Given the description of an element on the screen output the (x, y) to click on. 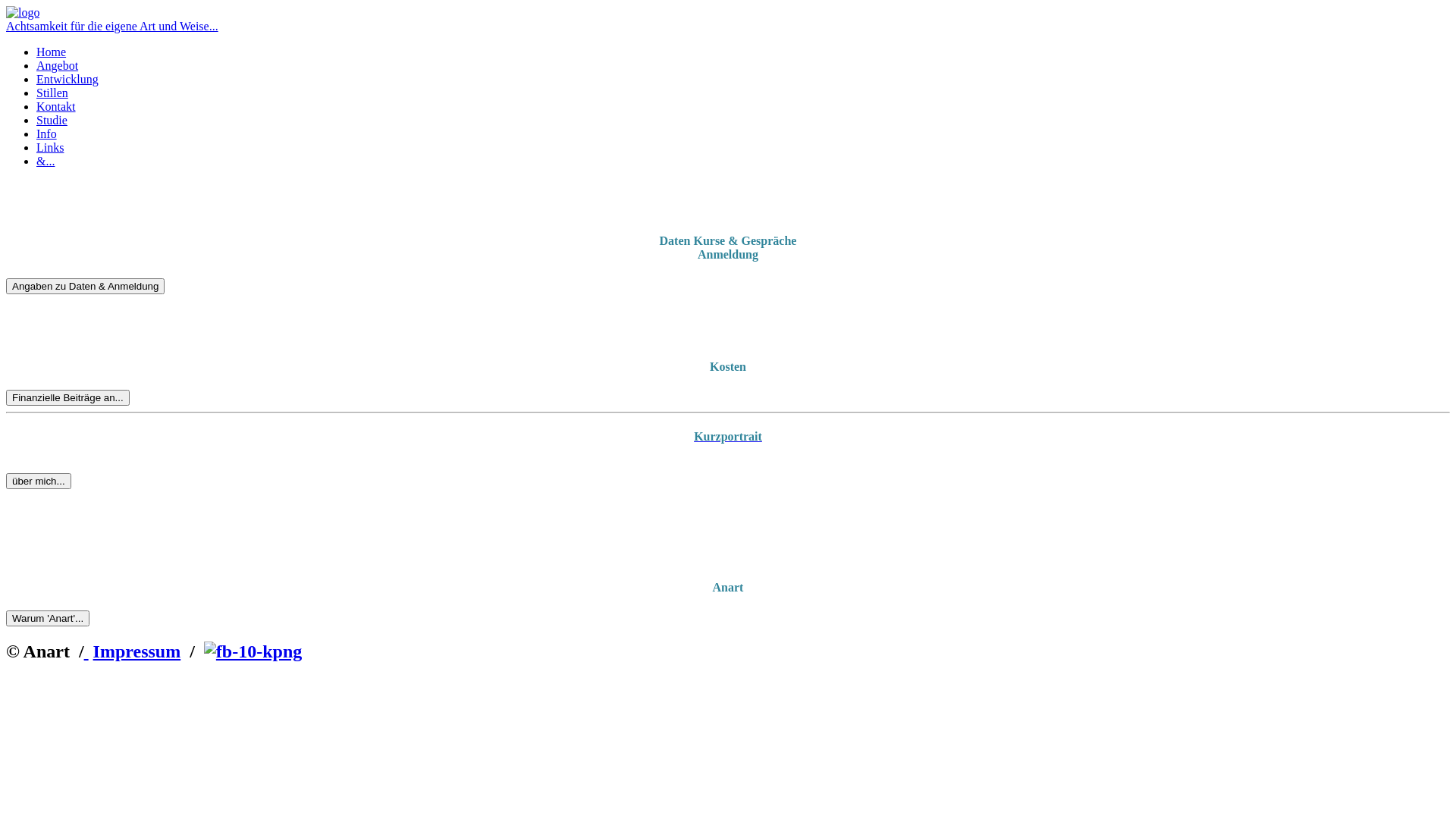
Kontakt Element type: text (55, 106)
Stillen Element type: text (52, 92)
Entwicklung Element type: text (67, 78)
Home Element type: text (50, 51)
Warum 'Anart'... Element type: text (47, 618)
Impressum Element type: text (137, 651)
&... Element type: text (45, 160)
Info Element type: text (46, 133)
Links Element type: text (49, 147)
Kurzportrait Element type: text (727, 435)
Studie Element type: text (51, 119)
Angebot Element type: text (57, 65)
Angaben zu Daten & Anmeldung Element type: text (85, 286)
  Element type: text (86, 651)
